Given the description of an element on the screen output the (x, y) to click on. 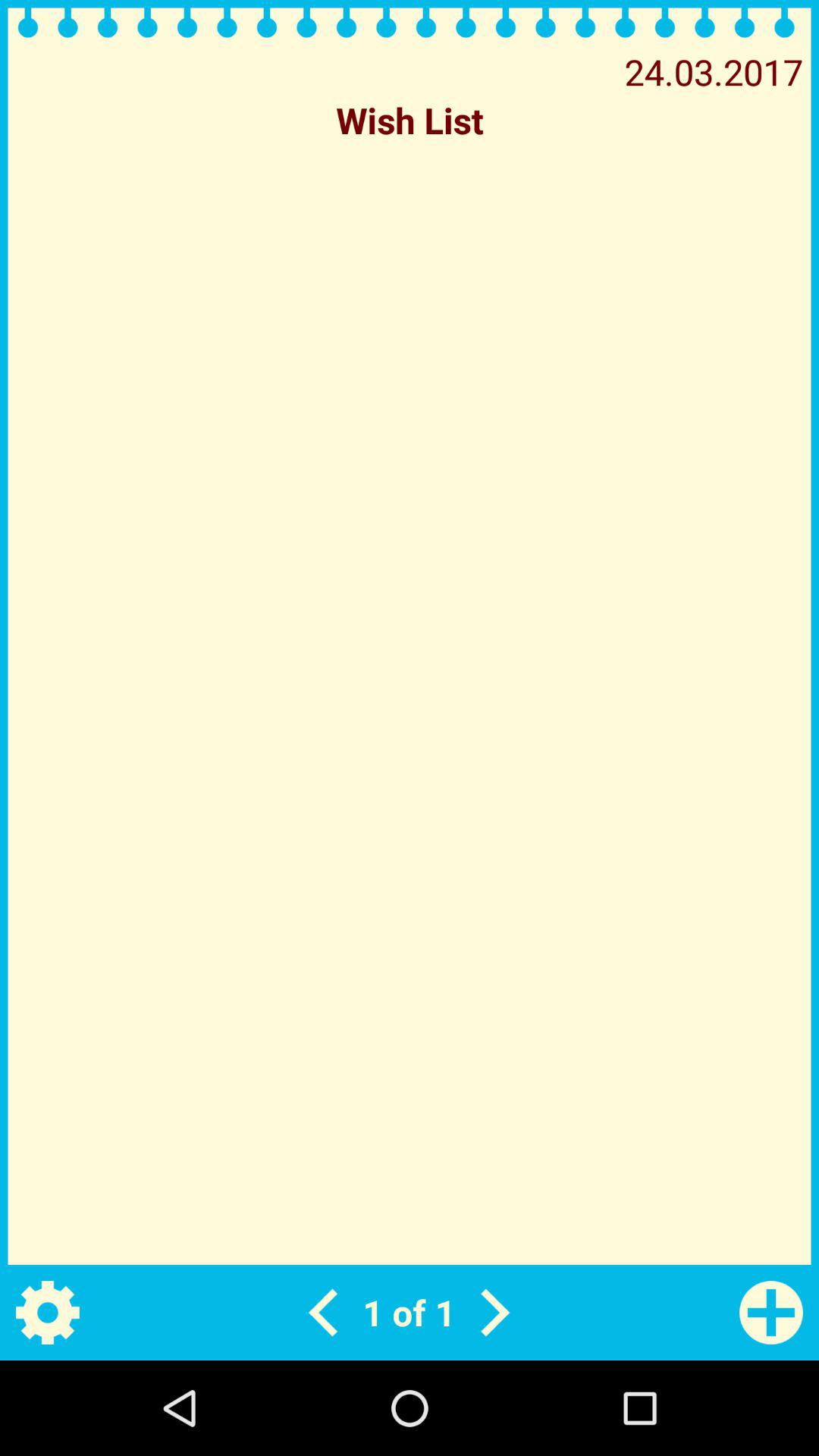
flip until the 1 of 1 item (408, 1312)
